Given the description of an element on the screen output the (x, y) to click on. 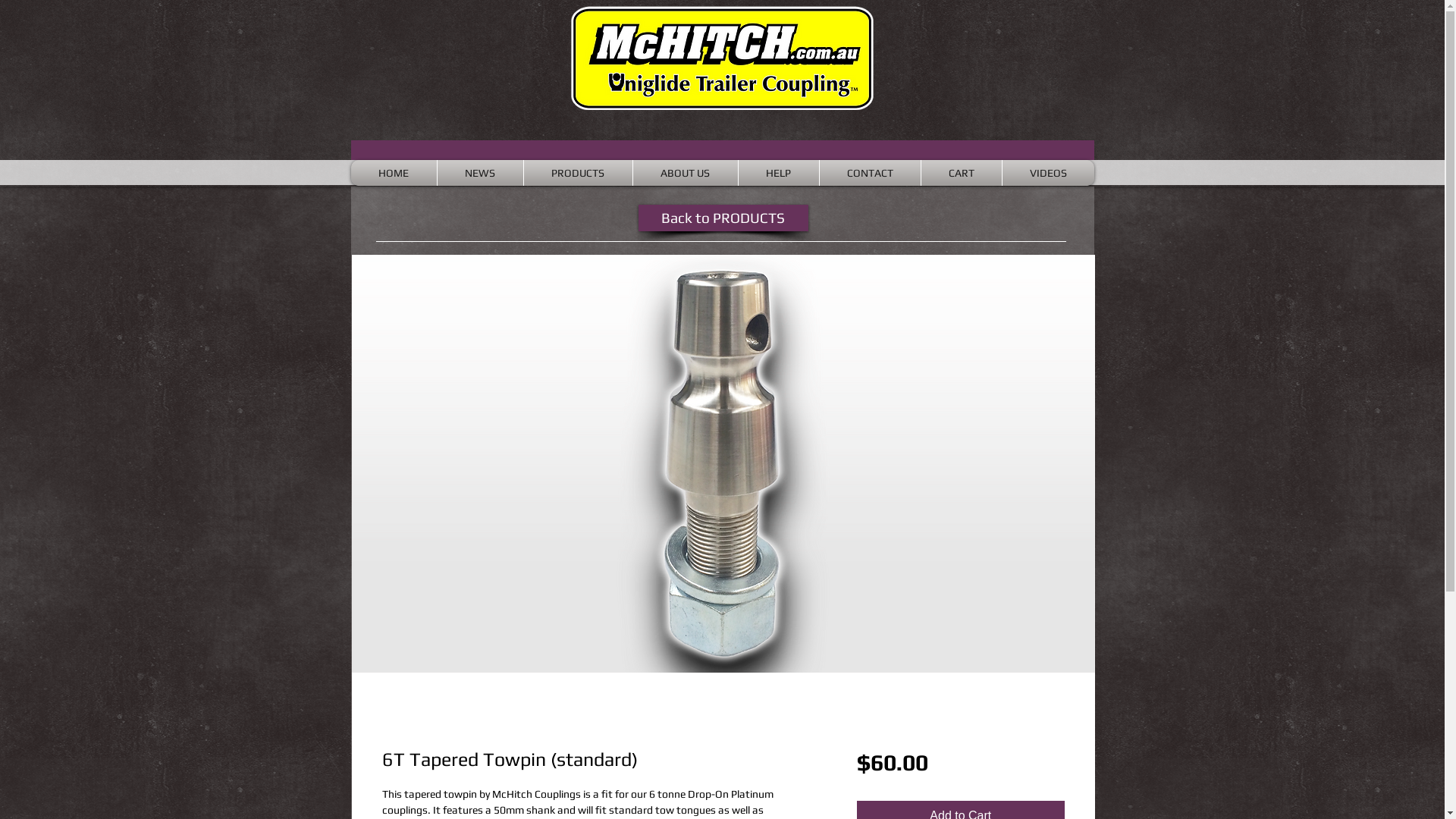
CART Element type: text (961, 172)
Home Element type: hover (721, 57)
HELP Element type: text (777, 172)
VIDEOS Element type: text (1047, 172)
CONTACT Element type: text (869, 172)
Back to PRODUCTS Element type: text (723, 217)
ABOUT US Element type: text (685, 172)
HOME Element type: text (393, 172)
PRODUCTS Element type: text (577, 172)
NEWS Element type: text (480, 172)
